Given the description of an element on the screen output the (x, y) to click on. 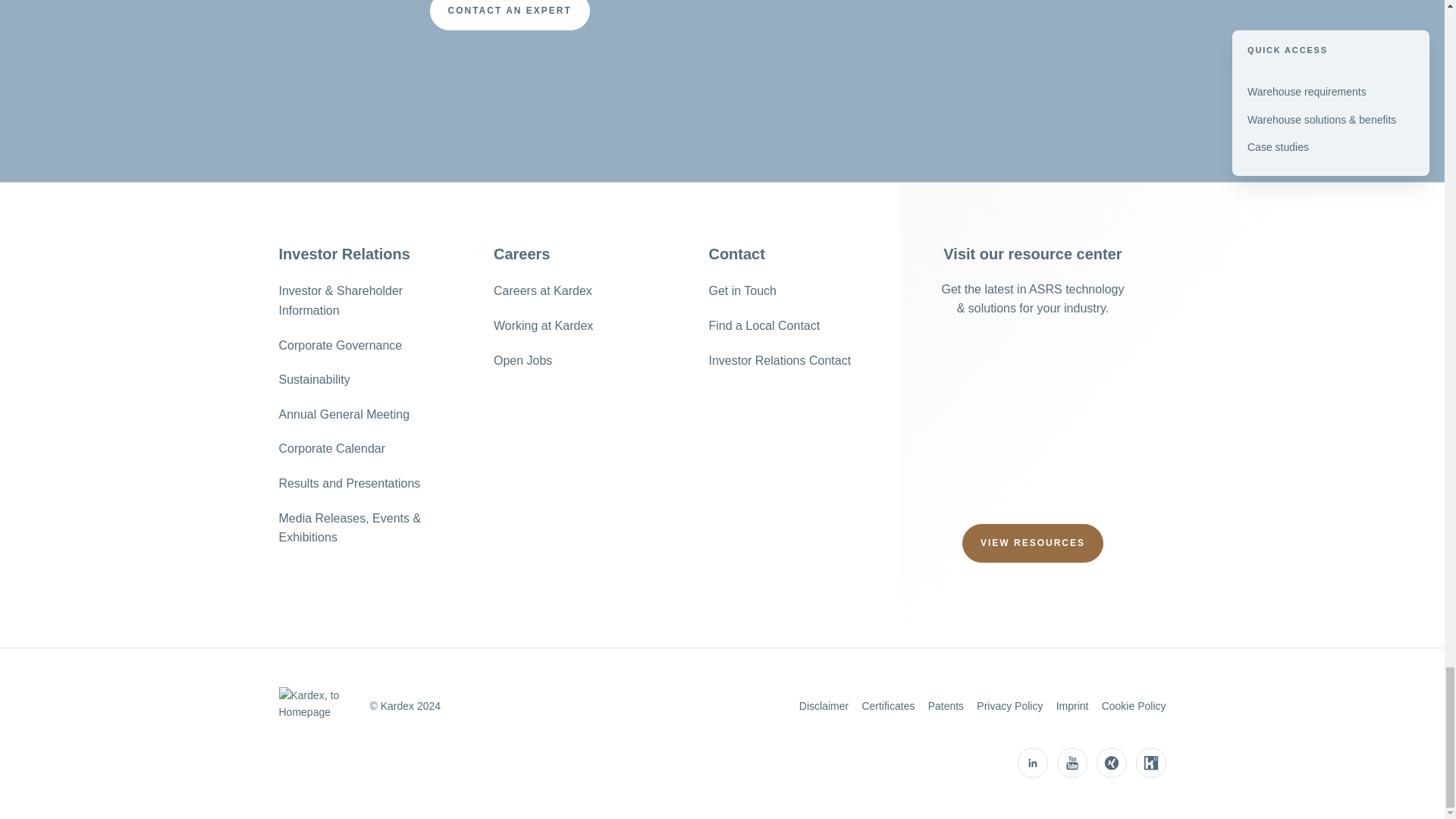
Kardex, to Homepage (320, 704)
